Given the description of an element on the screen output the (x, y) to click on. 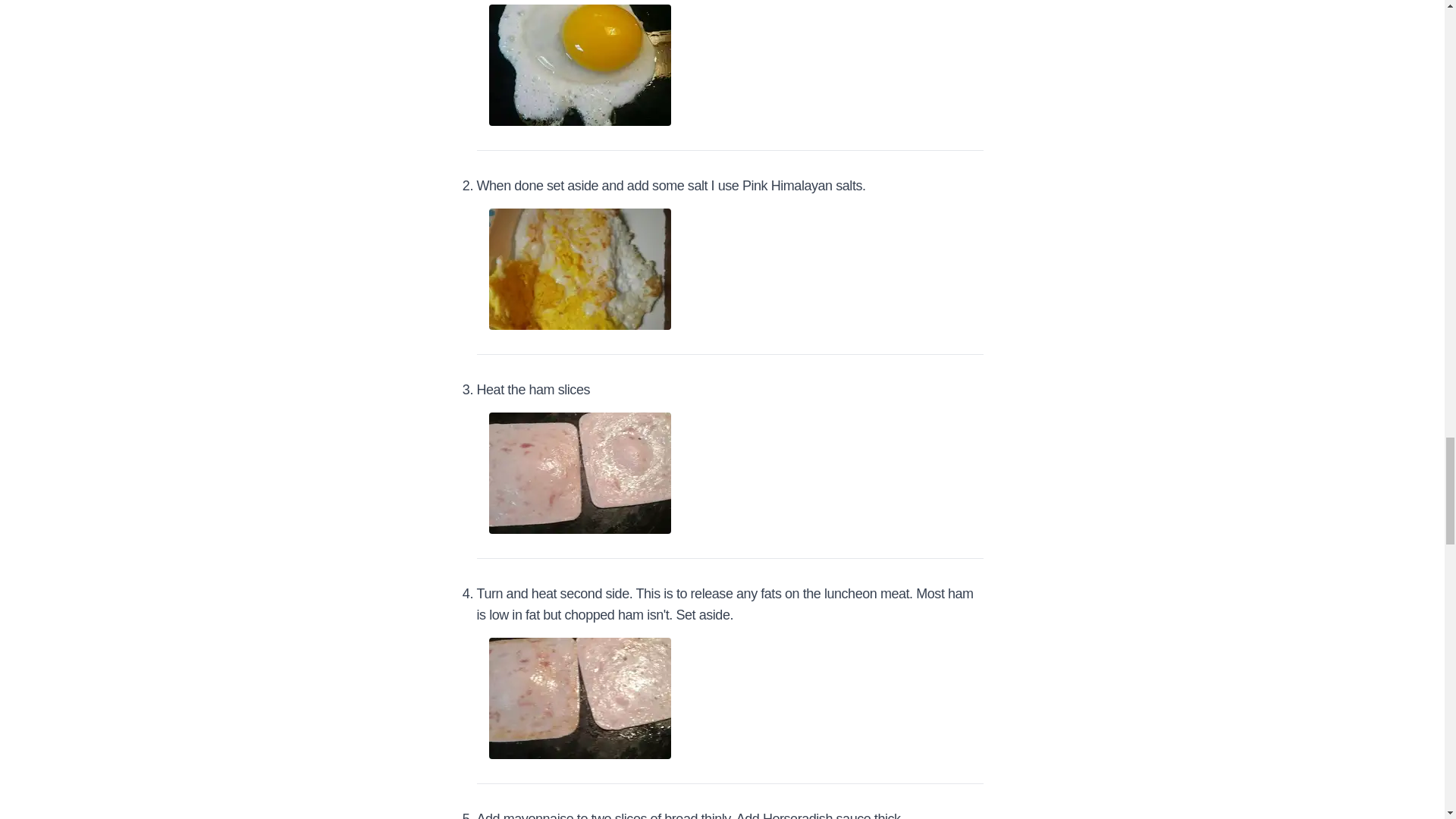
How to make Ham And Eggs On Rye Pumpernickel Bread (578, 65)
How to make Ham And Eggs On Rye Pumpernickel Bread (578, 269)
How to make Ham And Eggs On Rye Pumpernickel Bread (578, 472)
How to make Ham And Eggs On Rye Pumpernickel Bread (578, 698)
